Given the description of an element on the screen output the (x, y) to click on. 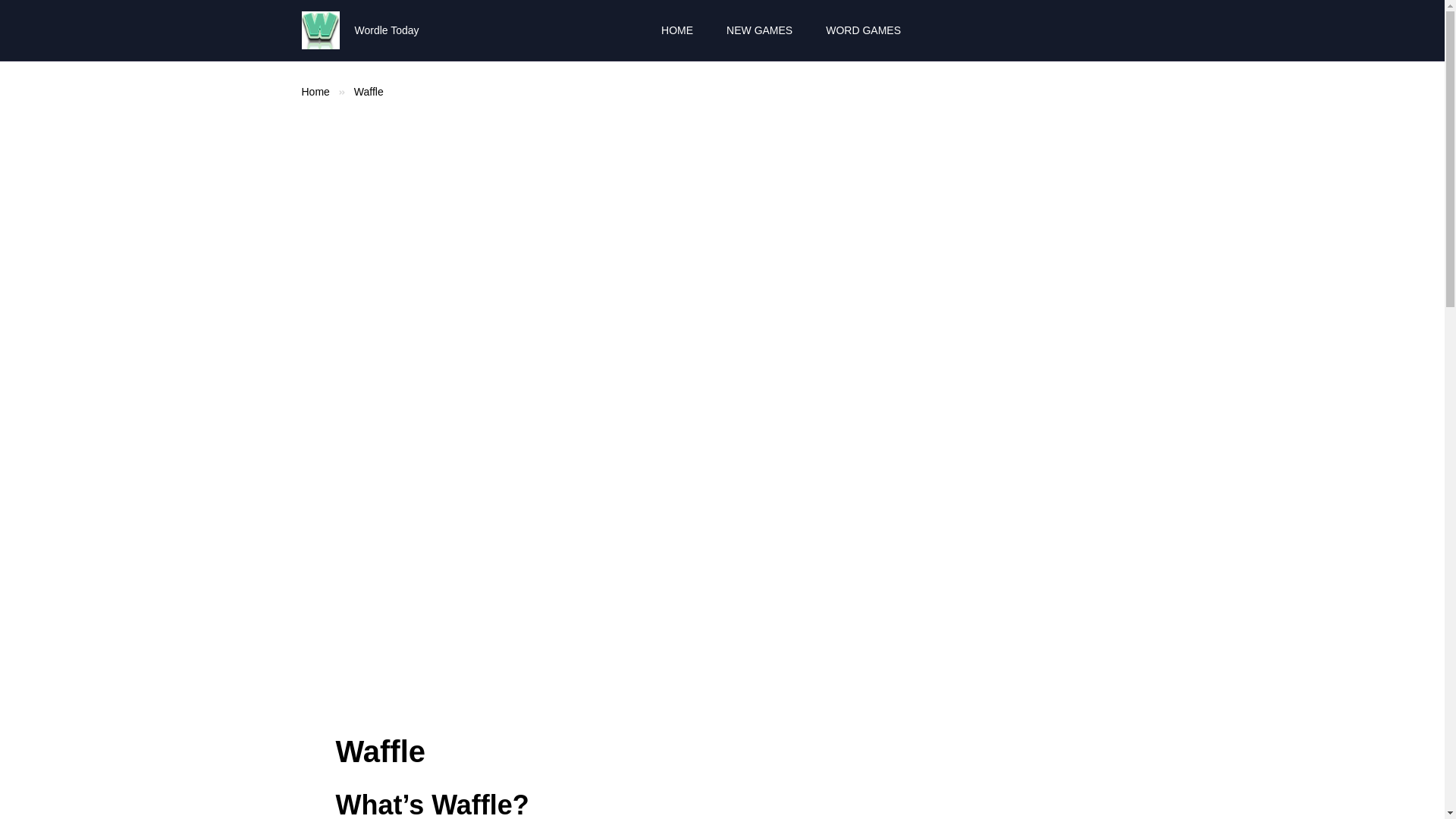
WORD GAMES (863, 30)
Home (315, 91)
NEW GAMES (759, 30)
HOME (677, 30)
Wordle Today (320, 30)
Home (315, 91)
